Given the description of an element on the screen output the (x, y) to click on. 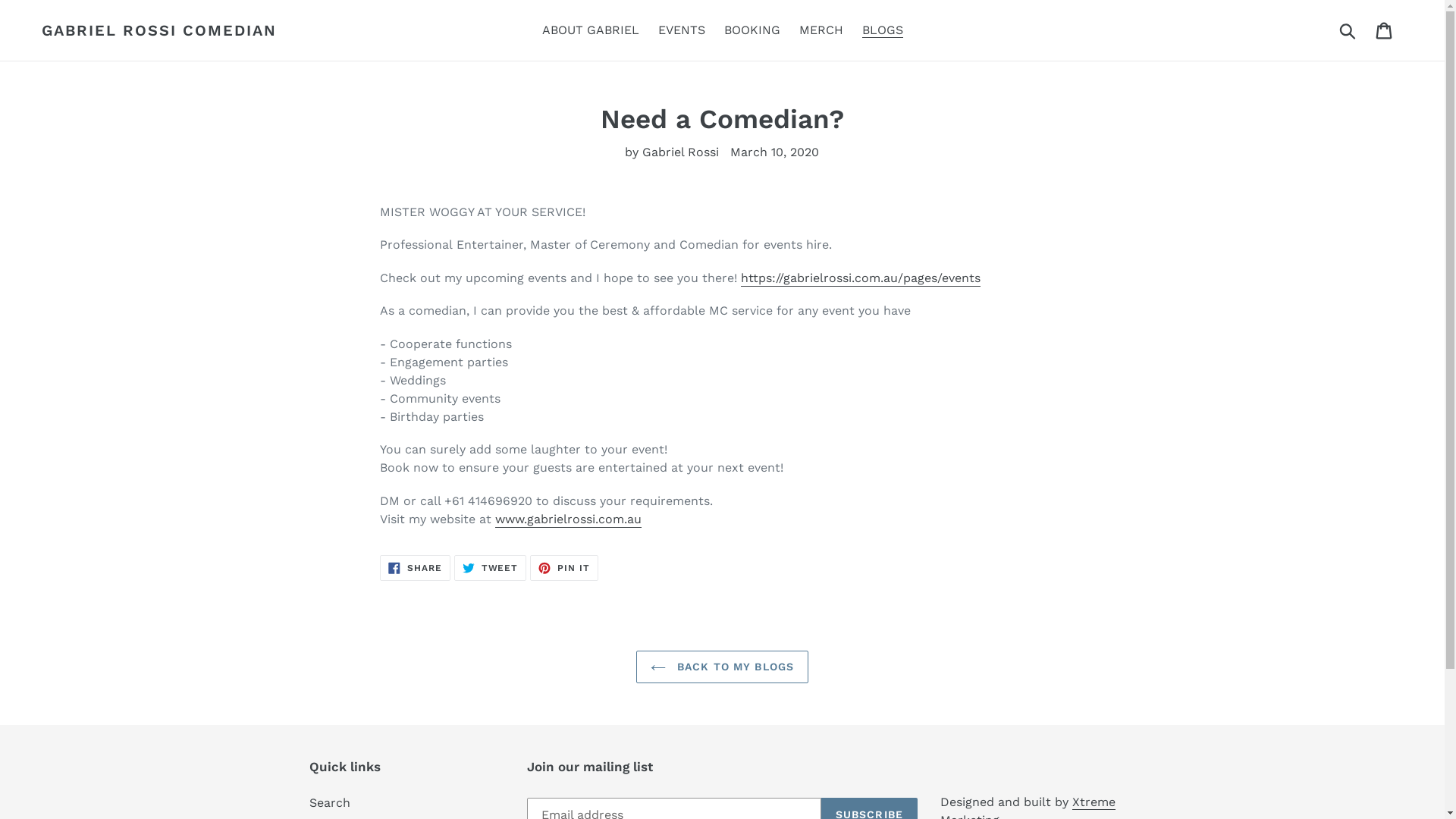
EVENTS Element type: text (681, 29)
SHARE
SHARE ON FACEBOOK Element type: text (414, 567)
Search Element type: text (329, 802)
TWEET
TWEET ON TWITTER Element type: text (490, 567)
Cart Element type: text (1384, 30)
ABOUT GABRIEL Element type: text (589, 29)
PIN IT
PIN ON PINTEREST Element type: text (564, 567)
Submit Element type: text (1348, 30)
BLOGS Element type: text (881, 29)
BACK TO MY BLOGS Element type: text (722, 666)
www.gabrielrossi.com.au Element type: text (568, 519)
BOOKING Element type: text (751, 29)
MERCH Element type: text (820, 29)
GABRIEL ROSSI COMEDIAN Element type: text (158, 30)
https://gabrielrossi.com.au/pages/events Element type: text (860, 278)
